Given the description of an element on the screen output the (x, y) to click on. 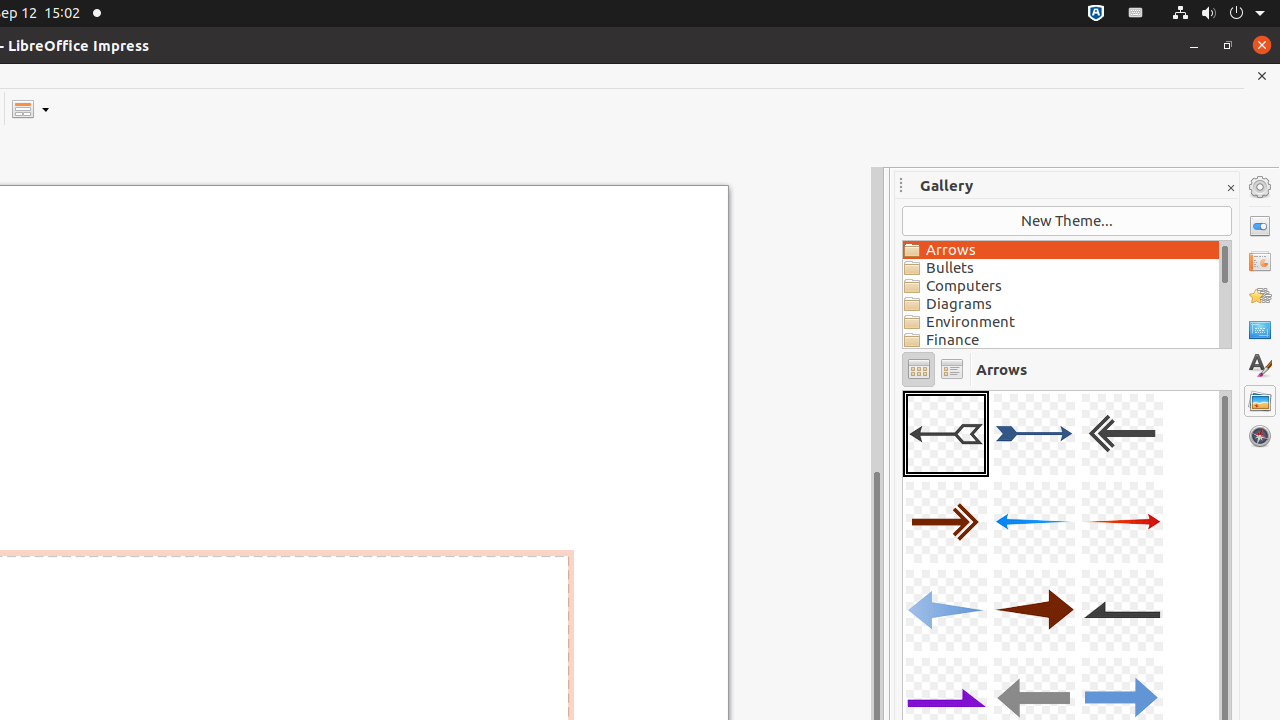
A35-CurvedArrow-Brown-Left Element type: list-item (903, 390)
A09-Arrow-Gray-Left Element type: list-item (1122, 610)
A34-CurvedArrow-Green-TwoDirections Element type: list-item (903, 390)
Slide Layout Element type: push-button (30, 108)
Navigator Element type: radio-button (1260, 436)
